Given the description of an element on the screen output the (x, y) to click on. 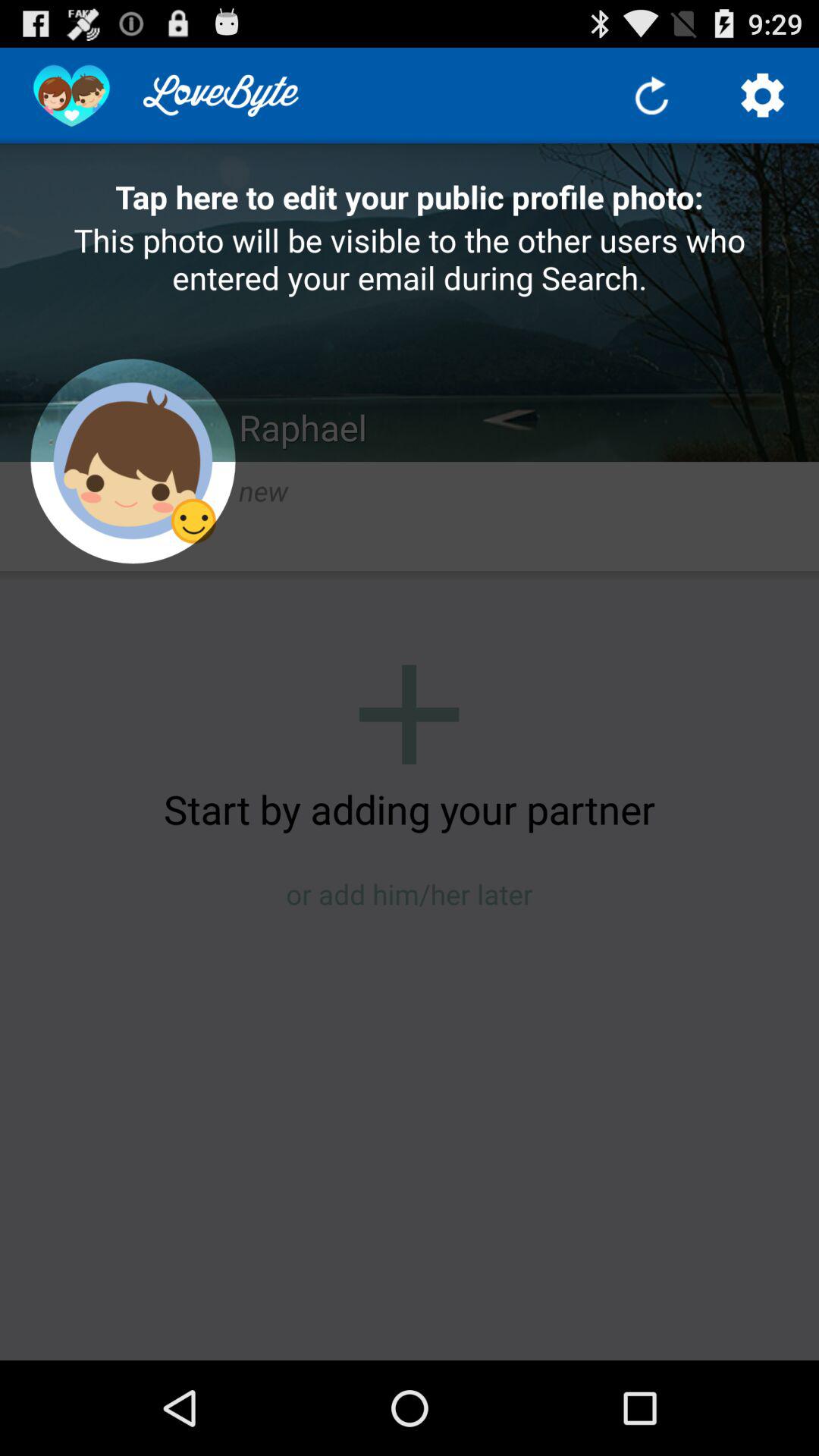
toggle settings (763, 95)
